Given the description of an element on the screen output the (x, y) to click on. 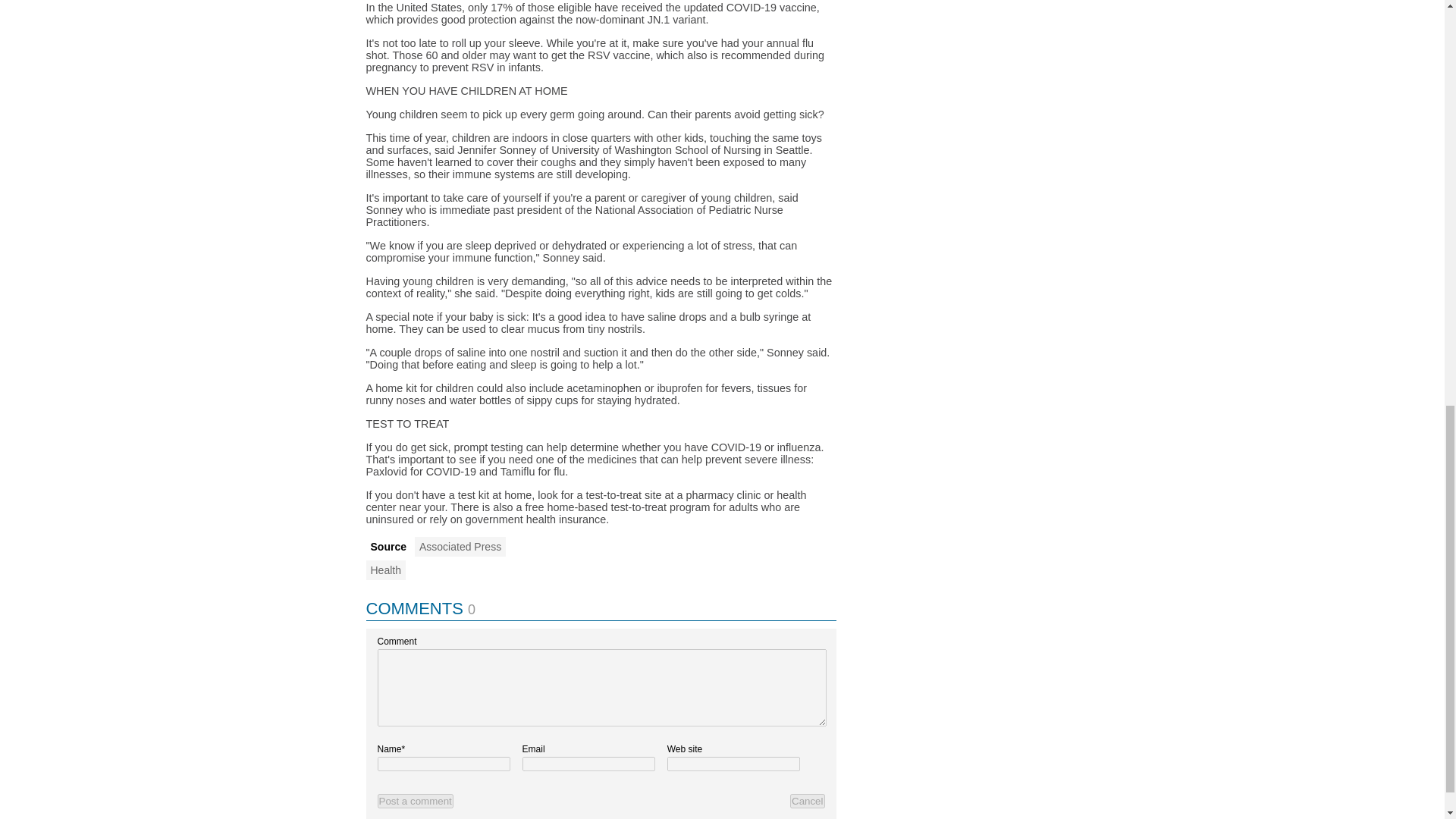
Post a comment (414, 800)
Cancel (807, 800)
Post a comment (414, 800)
Health (384, 569)
Associated Press (459, 546)
